Given the description of an element on the screen output the (x, y) to click on. 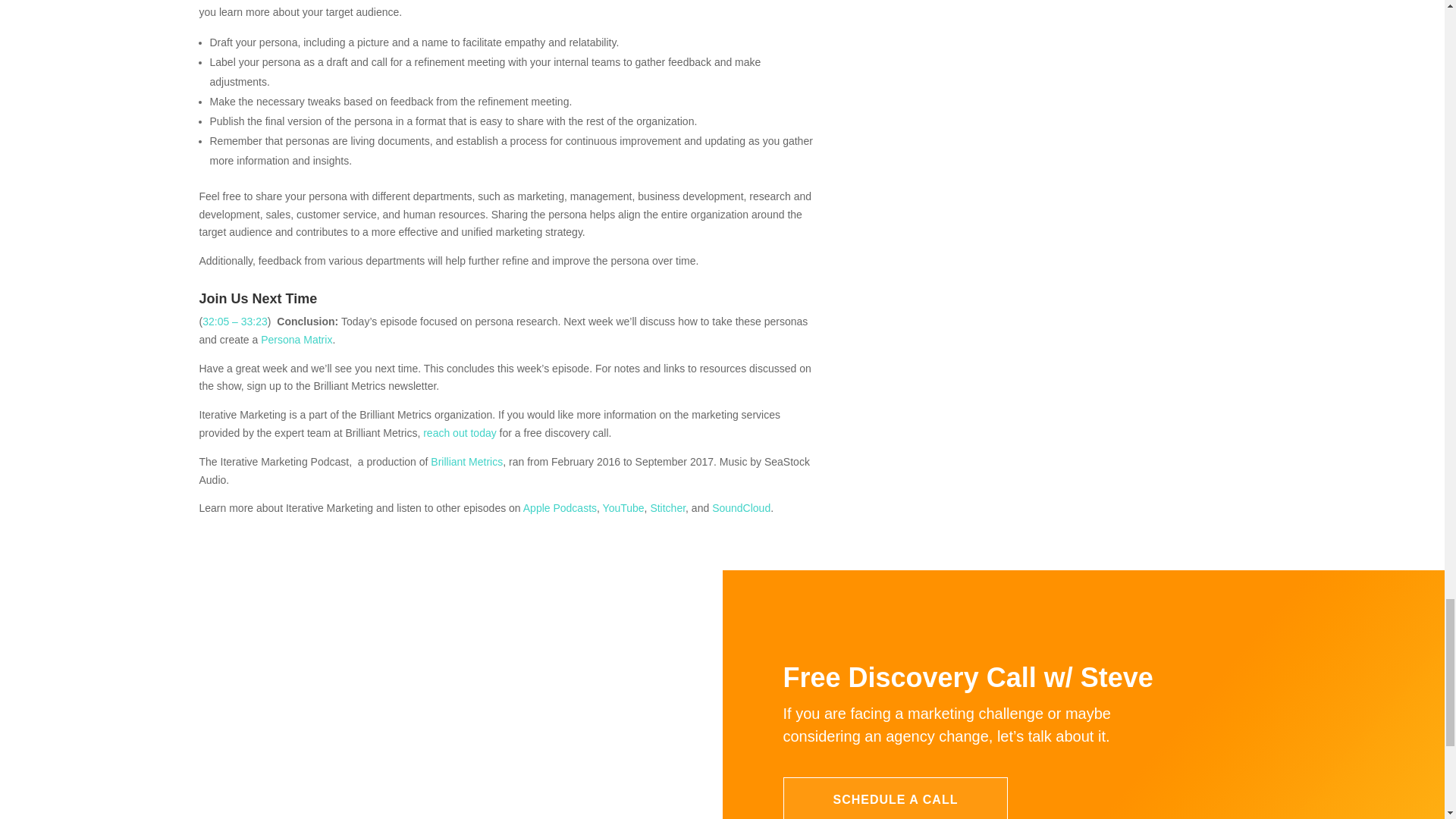
Follow on  (435, 795)
Follow on LinkedIn (478, 795)
Follow on  (521, 795)
